Given the description of an element on the screen output the (x, y) to click on. 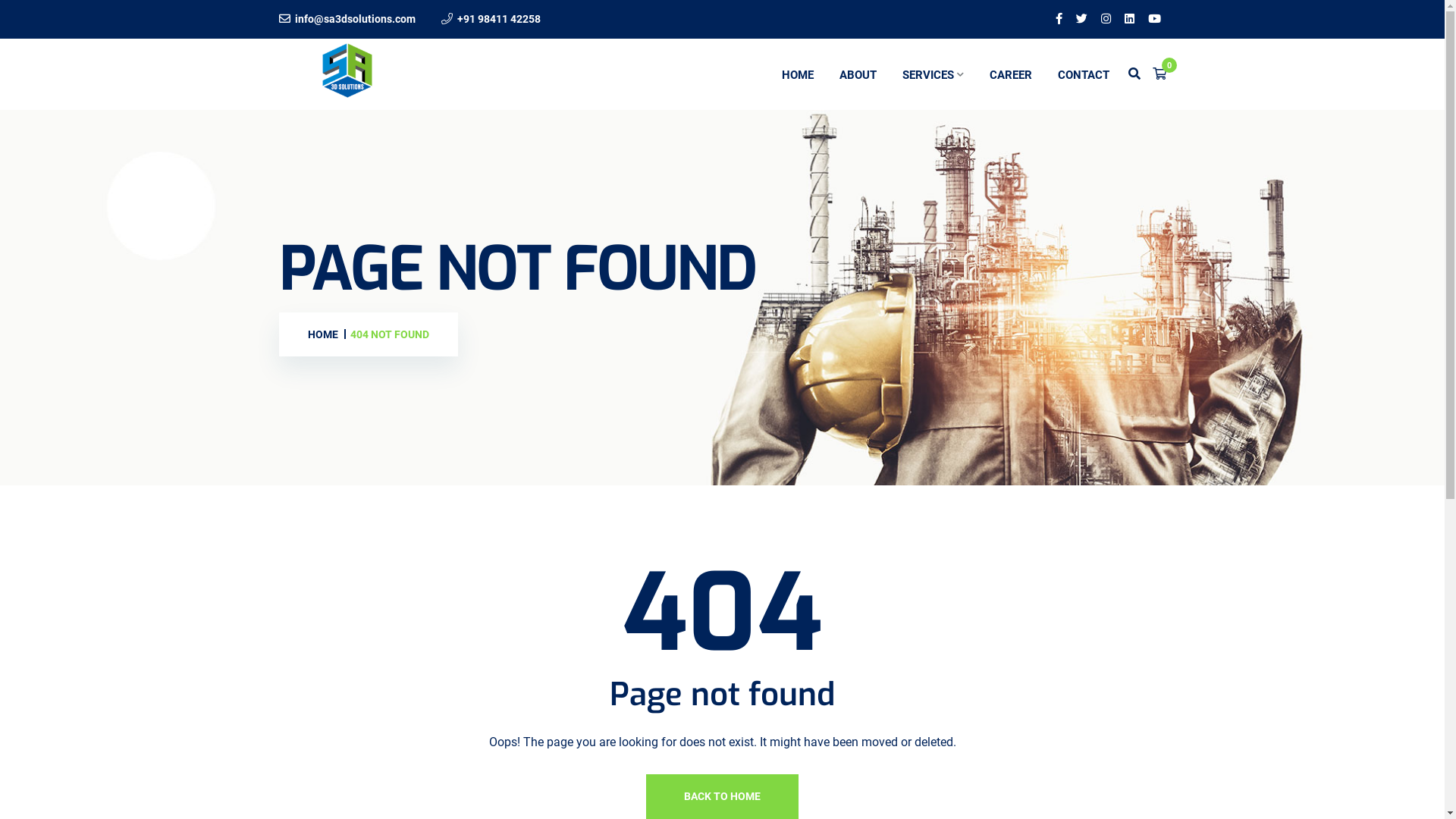
CAREER Element type: text (1010, 73)
ABOUT Element type: text (858, 73)
HOME Element type: text (322, 334)
+91 98411 42258 Element type: text (497, 18)
info@sa3dsolutions.com Element type: text (354, 18)
0 Element type: text (1159, 74)
HOME Element type: text (797, 73)
SERVICES Element type: text (932, 73)
CONTACT Element type: text (1083, 73)
